Given the description of an element on the screen output the (x, y) to click on. 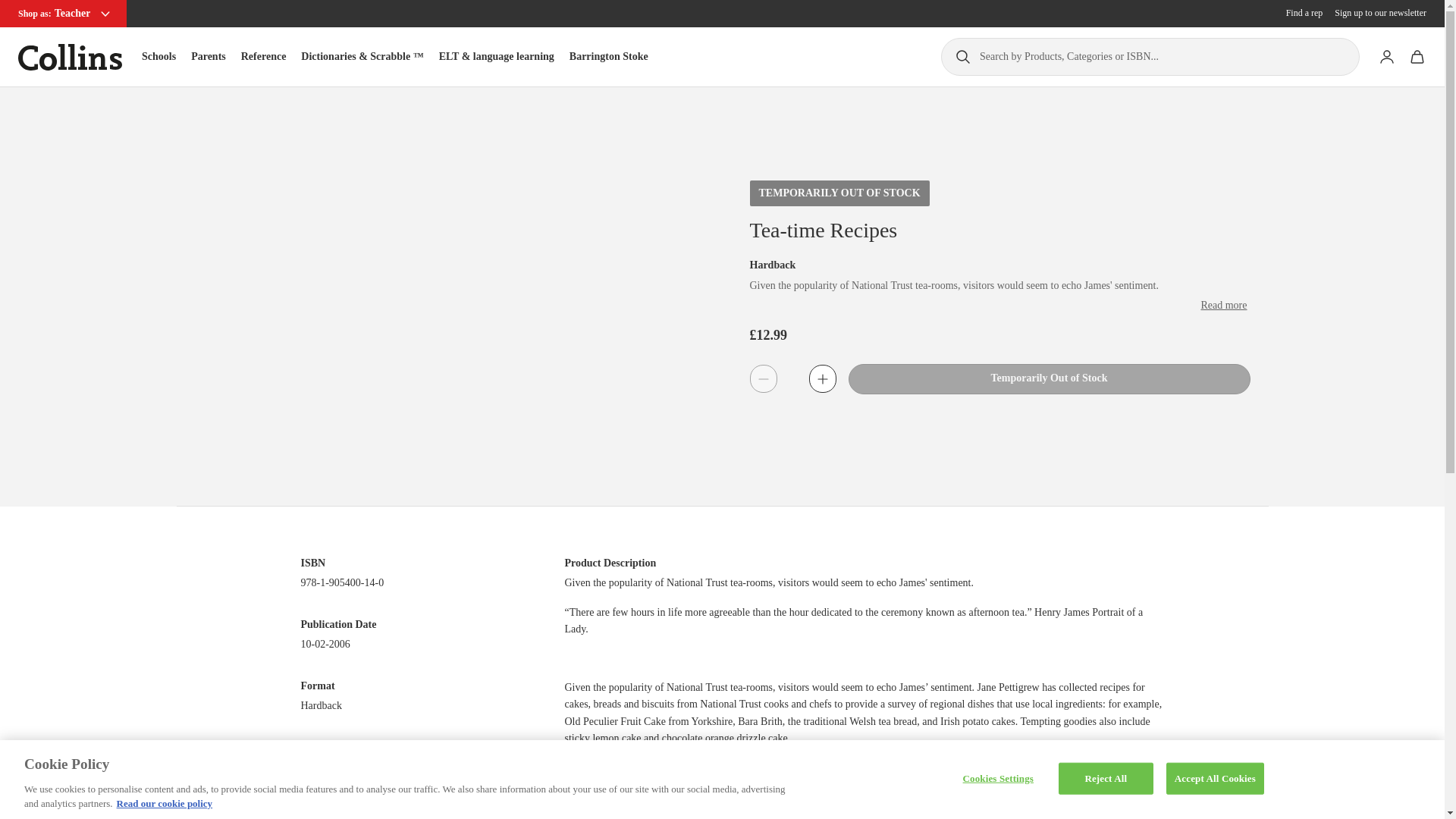
Toggle cart (1417, 56)
Increase quantity (821, 378)
Sign up to our newsletter (1380, 12)
Schools (158, 56)
Barrington Stoke (608, 56)
Read more (1222, 305)
Find a rep (1304, 12)
Reference (264, 56)
Decrease quantity (762, 378)
